Given the description of an element on the screen output the (x, y) to click on. 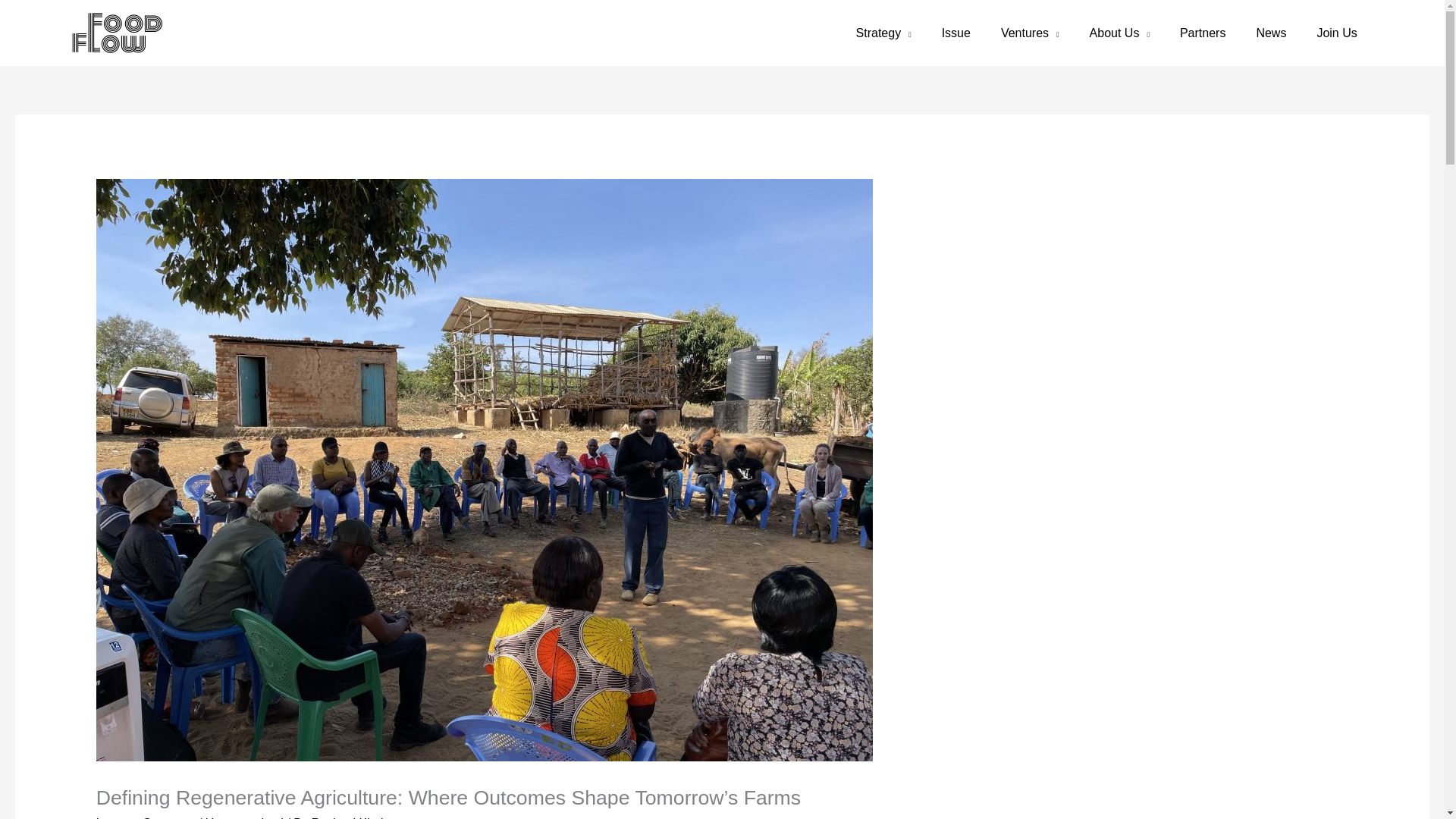
Join Us (1336, 33)
Leave a Comment (145, 817)
Issue (955, 33)
Partners (1202, 33)
Rachael Kirui (346, 817)
News (1270, 33)
View all posts by Rachael Kirui (346, 817)
Ventures (1029, 33)
Uncategorized (244, 817)
Strategy (883, 33)
